Given the description of an element on the screen output the (x, y) to click on. 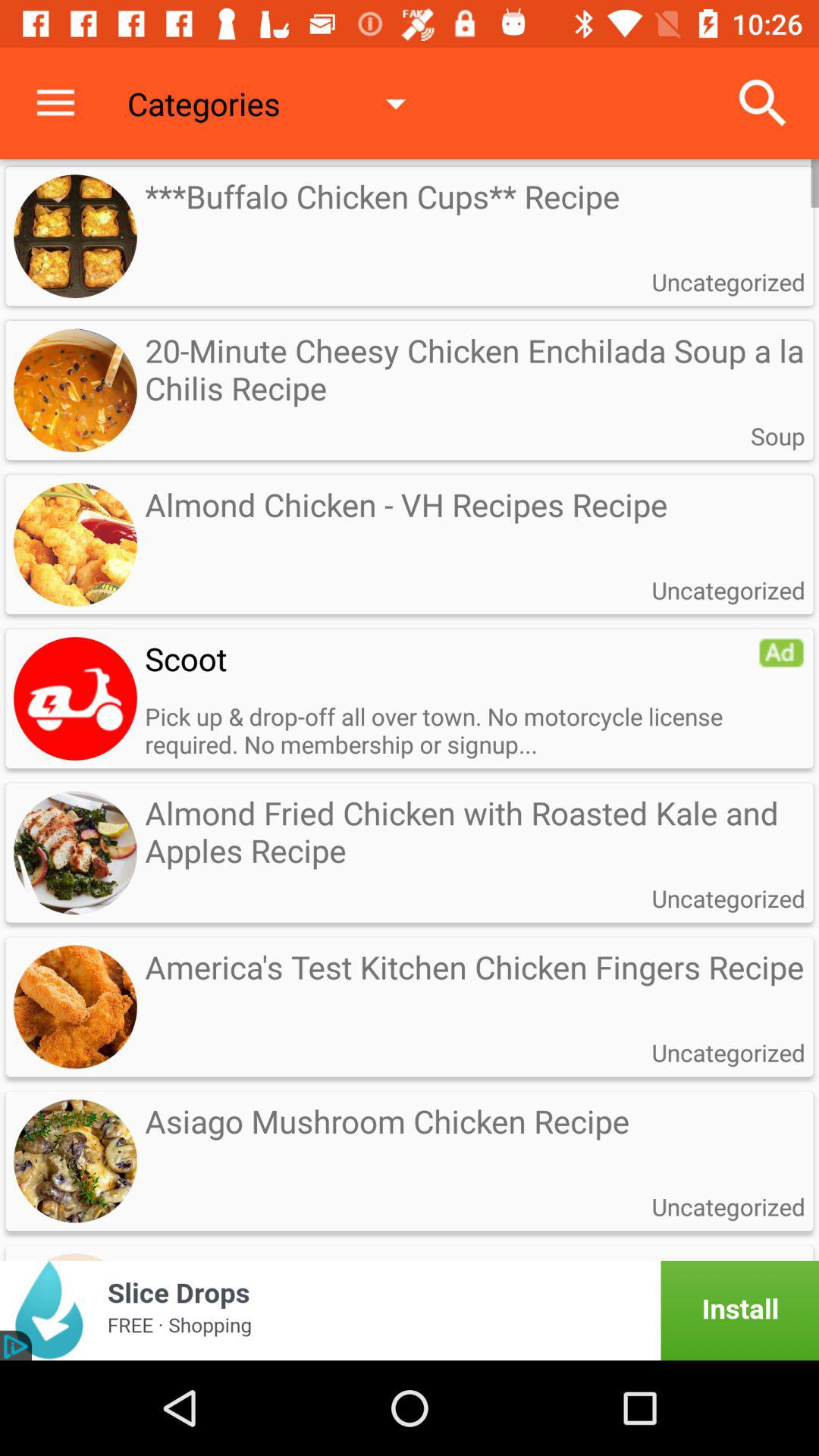
advertisement (409, 1310)
